Given the description of an element on the screen output the (x, y) to click on. 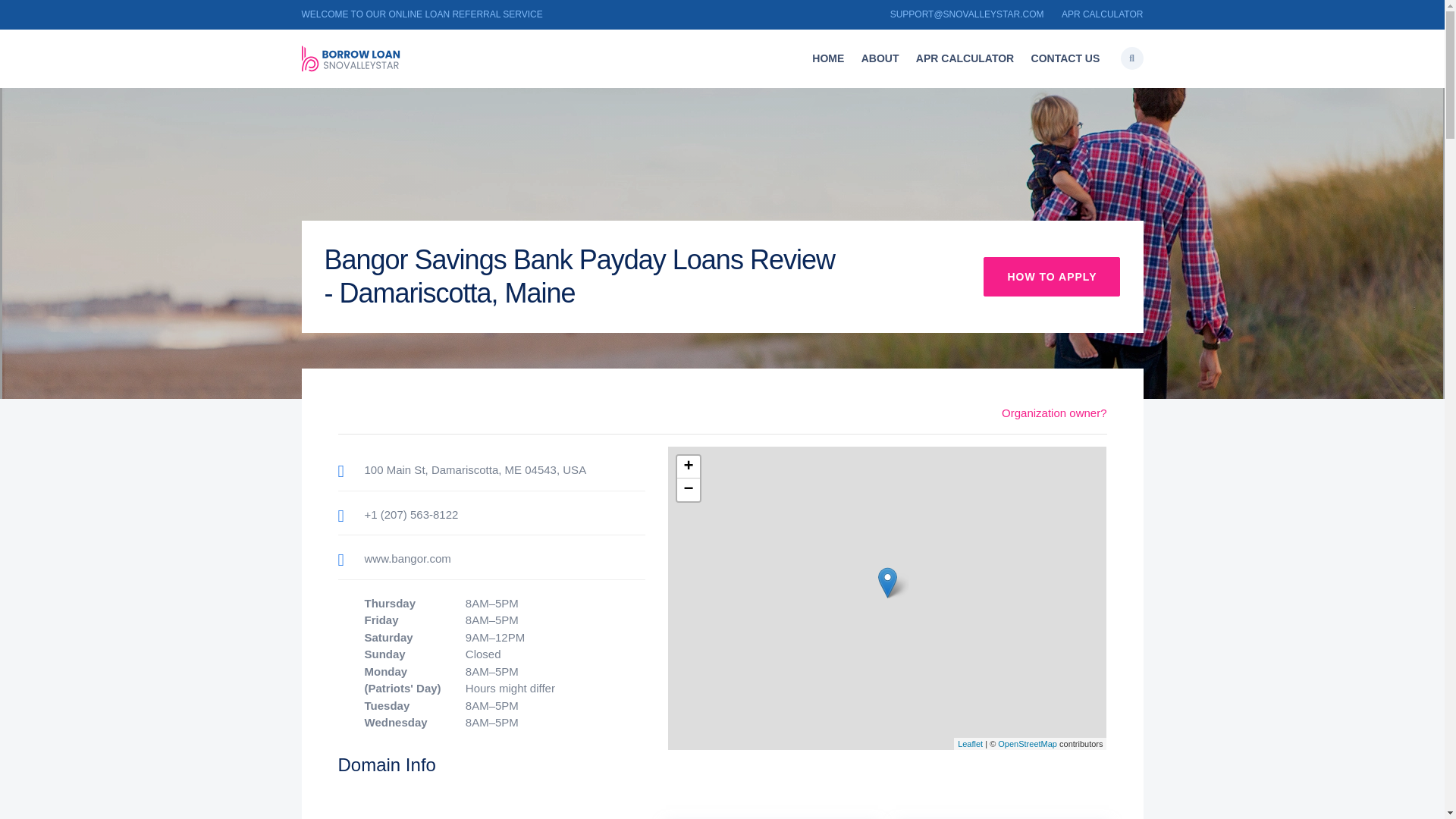
ABOUT (879, 58)
A JS library for interactive maps (970, 743)
Leaflet (970, 743)
CONTACT US (1065, 58)
OpenStreetMap (1027, 743)
Organization owner? (1053, 412)
HOME (827, 58)
Organization owner? (1053, 412)
Zoom in (687, 466)
HOW TO APPLY (1051, 276)
APR CALCULATOR (965, 58)
APR CALCULATOR (1101, 14)
Zoom out (687, 489)
